Given the description of an element on the screen output the (x, y) to click on. 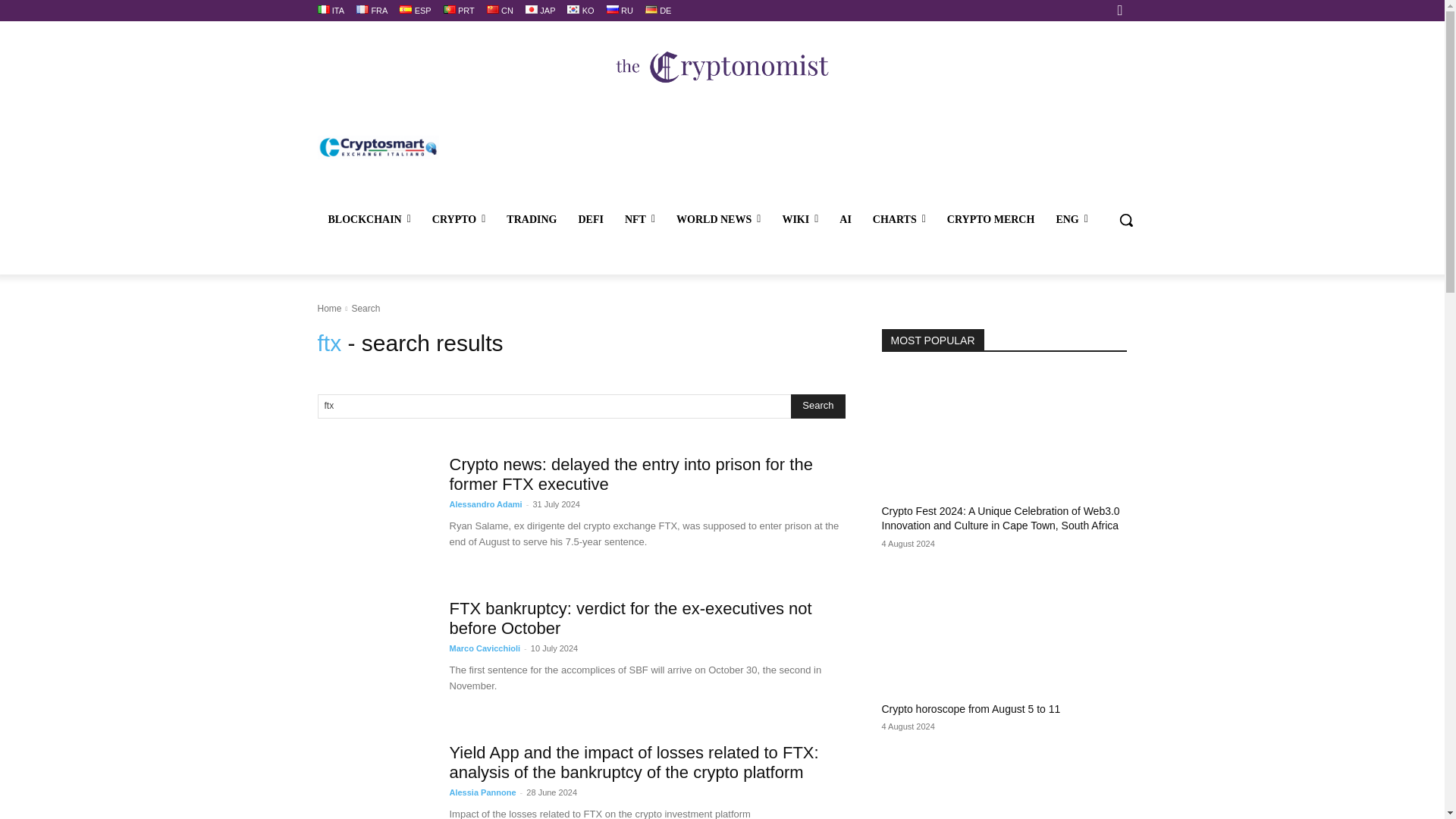
ftx (553, 405)
ftx (553, 405)
